Given the description of an element on the screen output the (x, y) to click on. 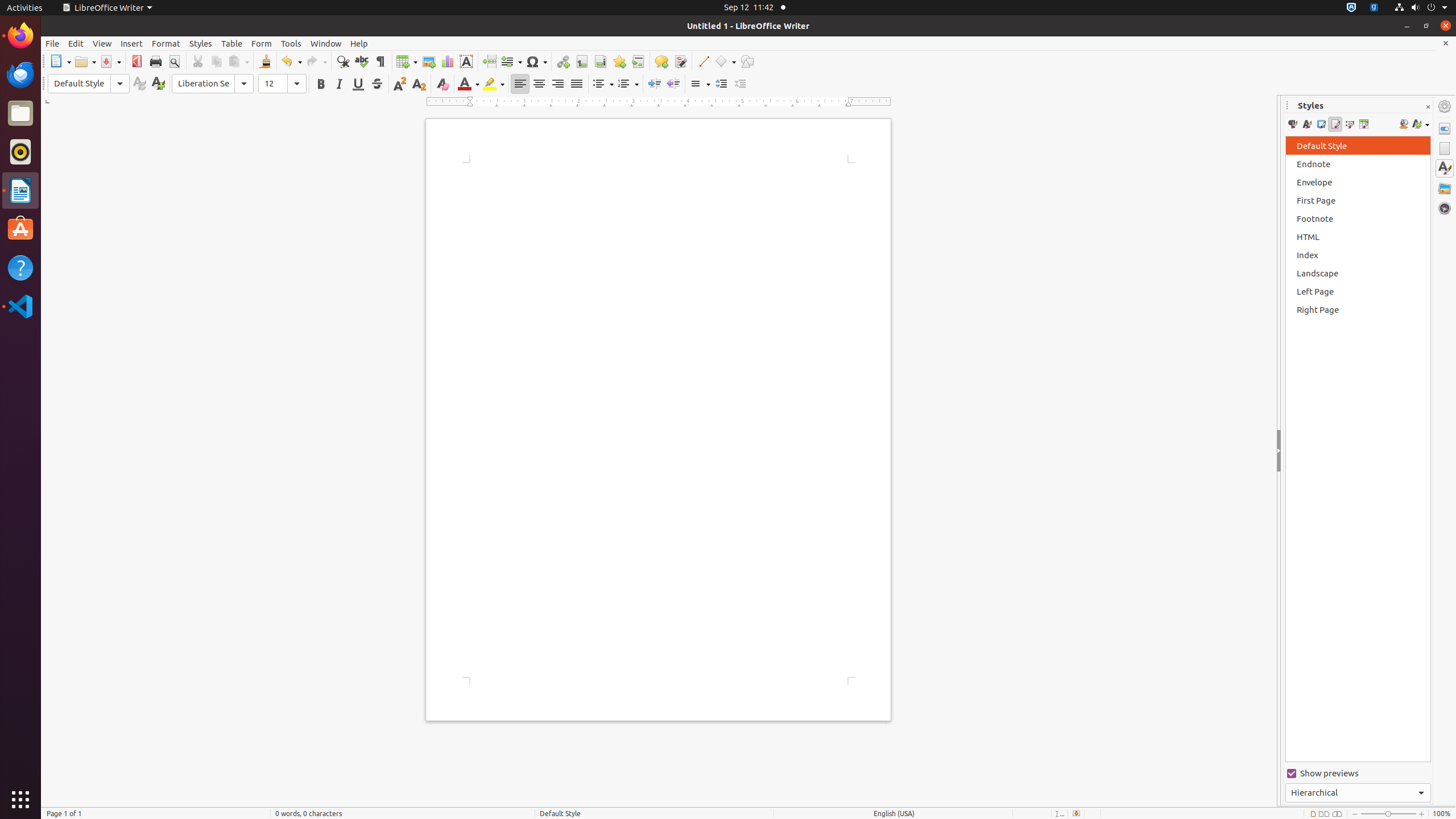
Track Changes Functions Element type: toggle-button (679, 61)
Subscript Element type: toggle-button (418, 83)
Horizontal Ruler Element type: ruler (658, 101)
:1.72/StatusNotifierItem Element type: menu (1350, 7)
Styles actions Element type: push-button (1420, 123)
